Given the description of an element on the screen output the (x, y) to click on. 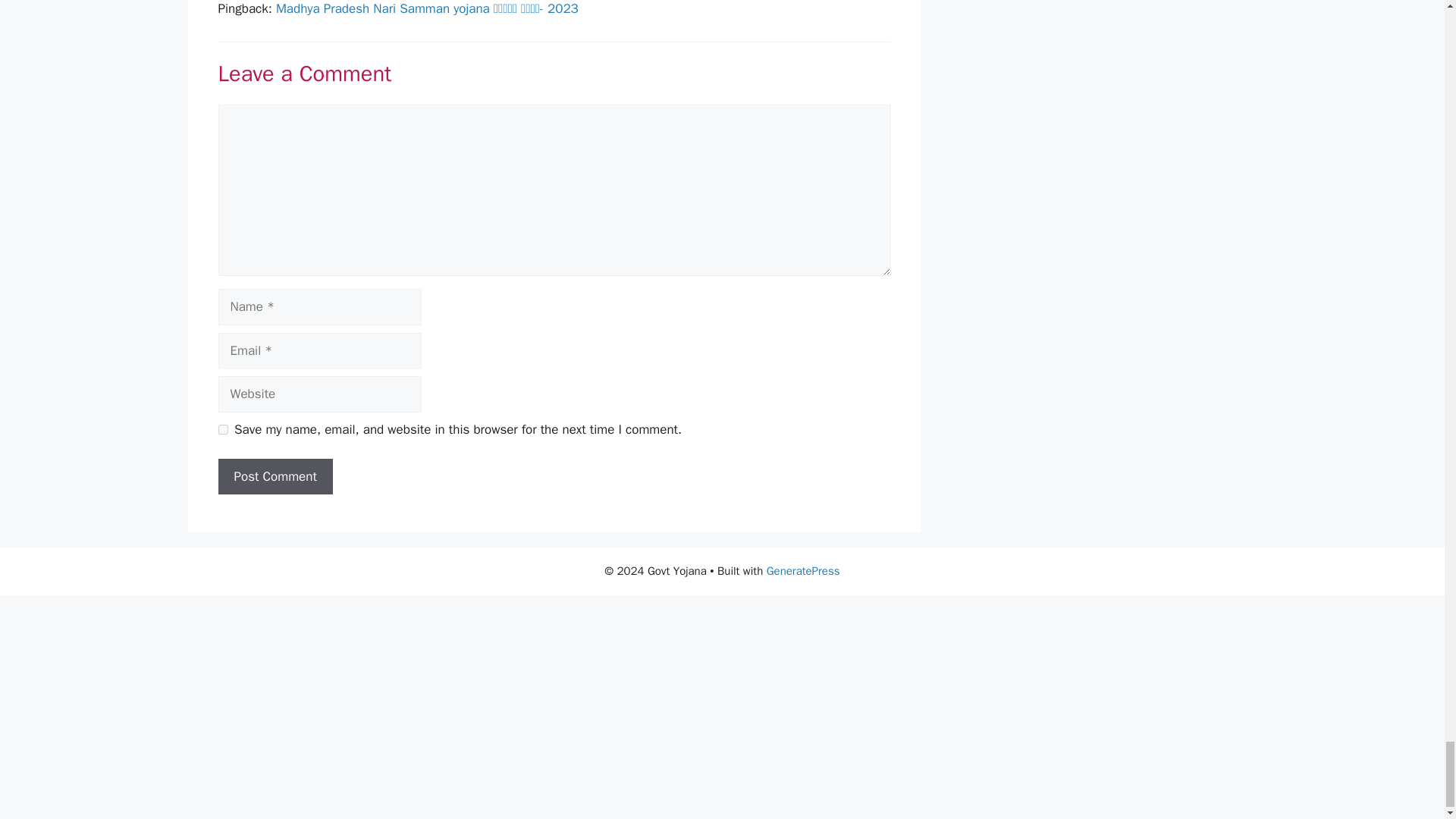
Post Comment (275, 476)
yes (223, 429)
